Given the description of an element on the screen output the (x, y) to click on. 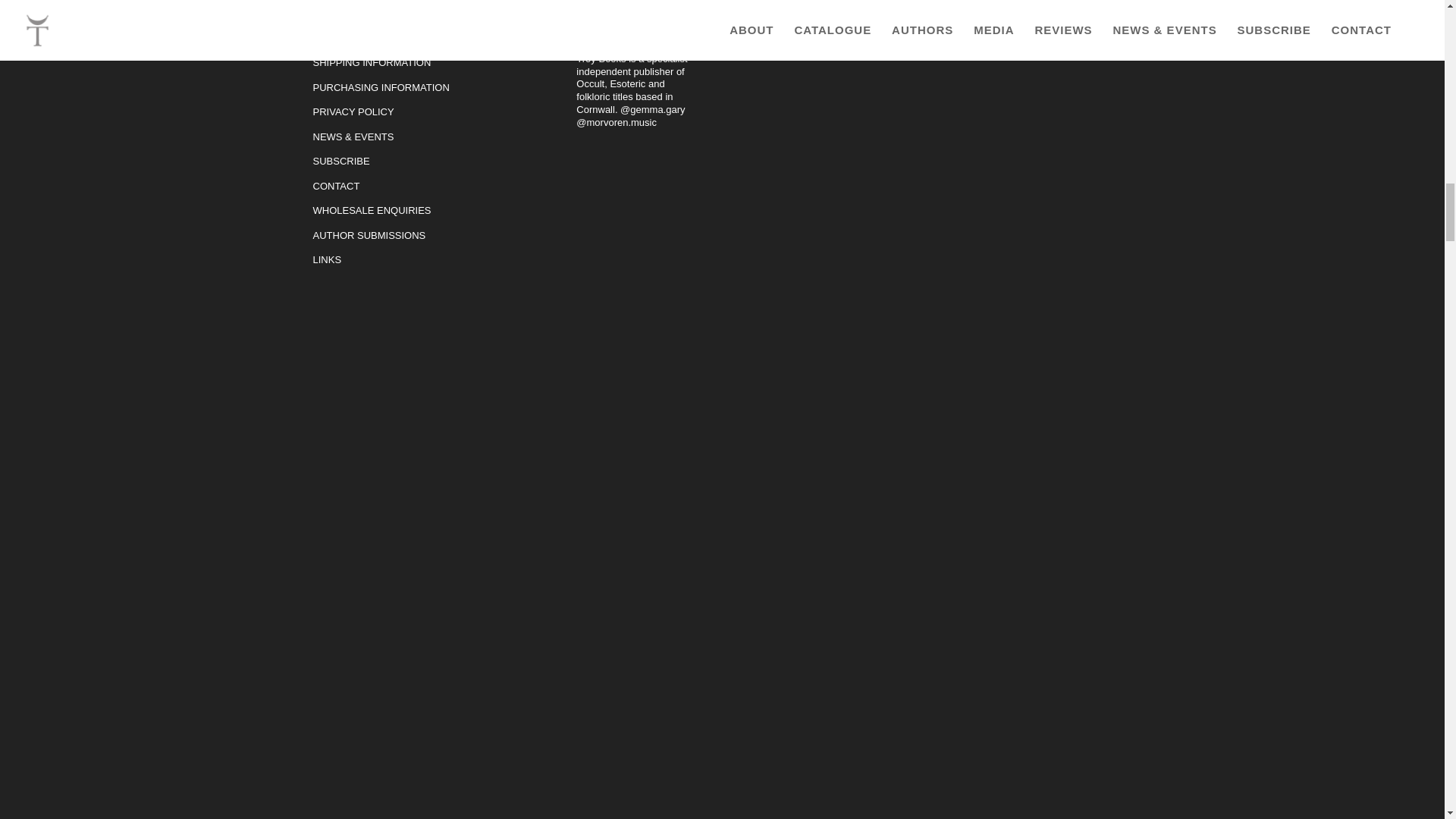
HOME (327, 38)
PURCHASING INFORMATION (380, 87)
SUBSCRIBE (341, 161)
LINKS (326, 259)
CONTACT (336, 185)
SHIPPING INFORMATION (371, 61)
WHOLESALE ENQUIRIES (371, 210)
PRIVACY POLICY (353, 111)
AUTHOR SUBMISSIONS (369, 235)
